Given the description of an element on the screen output the (x, y) to click on. 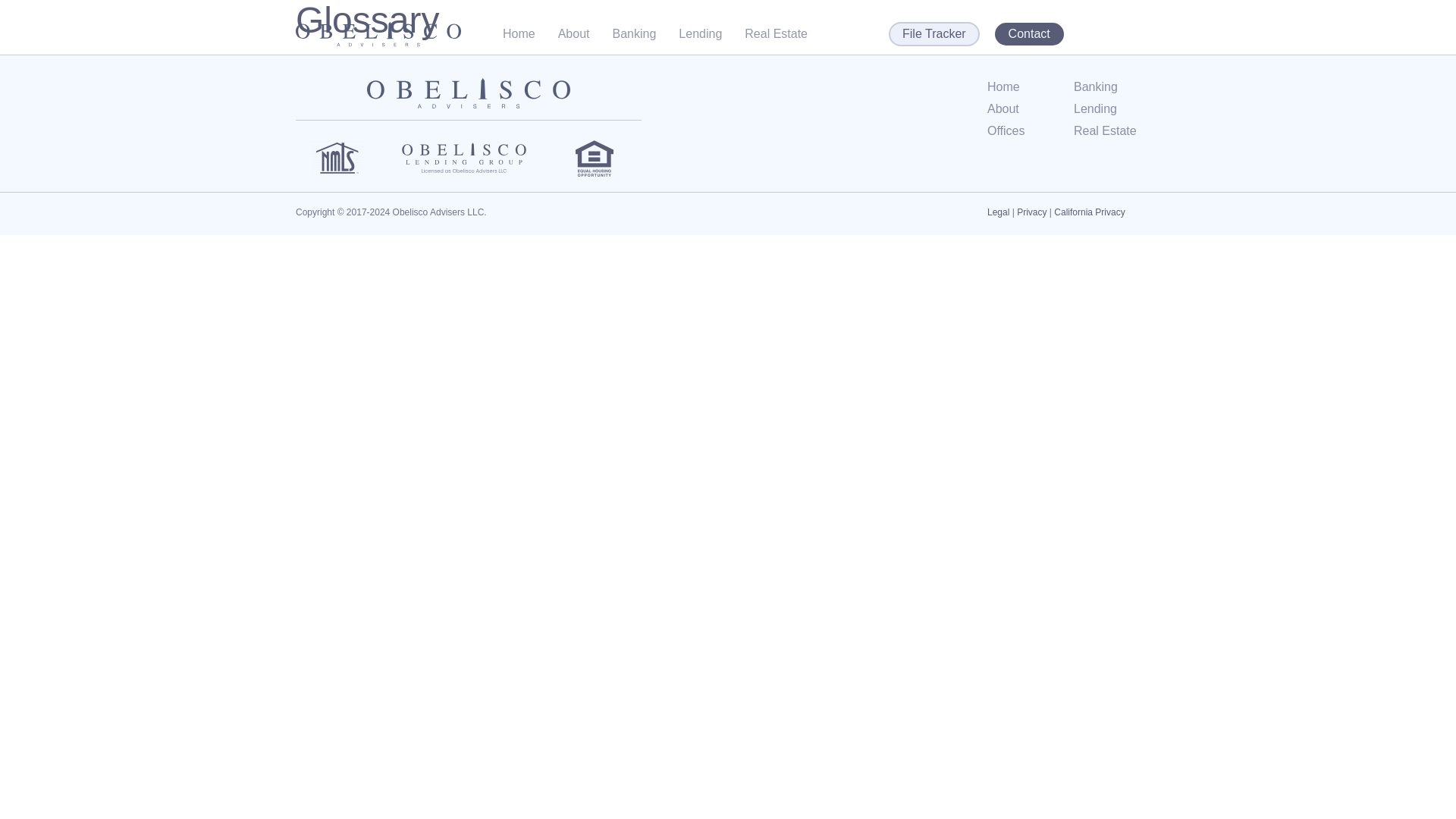
Home (1030, 86)
Lending (1117, 108)
California Privacy (1089, 212)
Real Estate (1117, 131)
Home (519, 33)
About (1030, 108)
About (574, 33)
Equal Housing Opportunity Logo (593, 157)
Privacy (1031, 212)
Contact (1029, 33)
File Tracker (933, 33)
nmls (336, 158)
Lending (699, 33)
Banking (1117, 86)
Real Estate (775, 33)
